Given the description of an element on the screen output the (x, y) to click on. 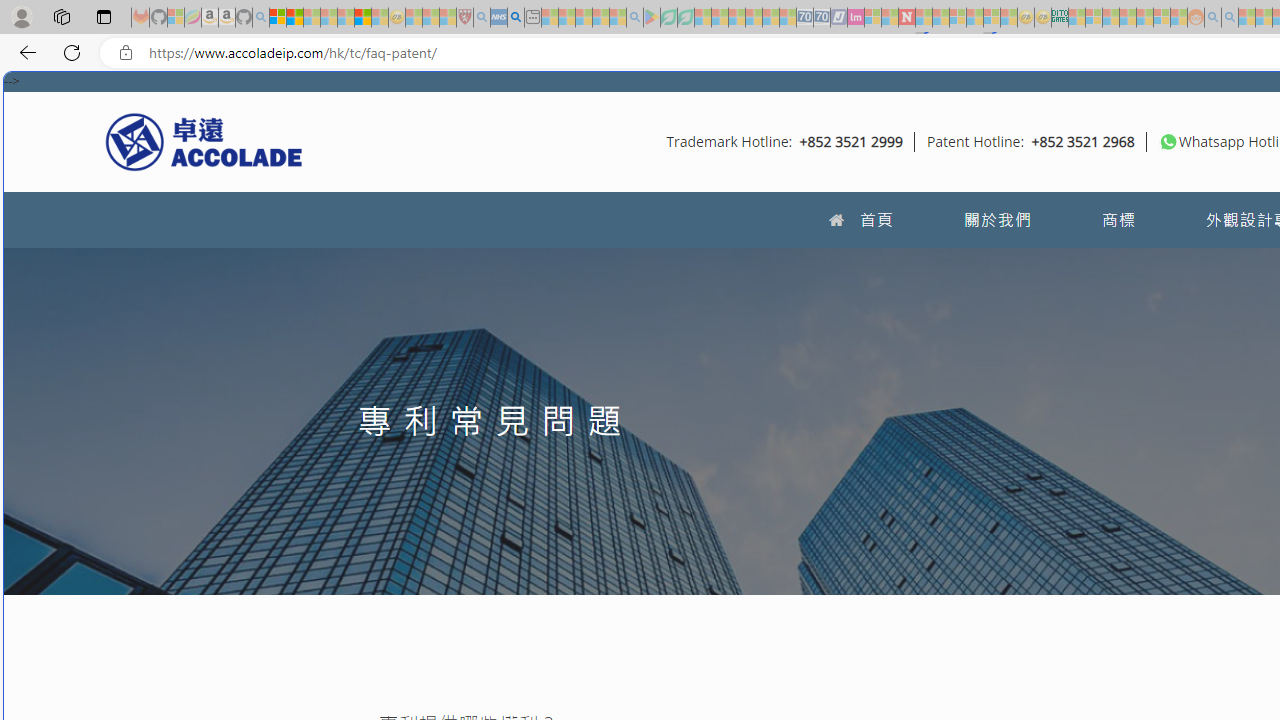
Accolade IP HK Logo (203, 141)
Jobs - lastminute.com Investor Portal - Sleeping (855, 17)
Expert Portfolios - Sleeping (1128, 17)
Cheap Hotels - Save70.com - Sleeping (821, 17)
Pets - MSN - Sleeping (600, 17)
google - Search - Sleeping (634, 17)
Microsoft-Report a Concern to Bing - Sleeping (175, 17)
14 Common Myths Debunked By Scientific Facts - Sleeping (940, 17)
